Given the description of an element on the screen output the (x, y) to click on. 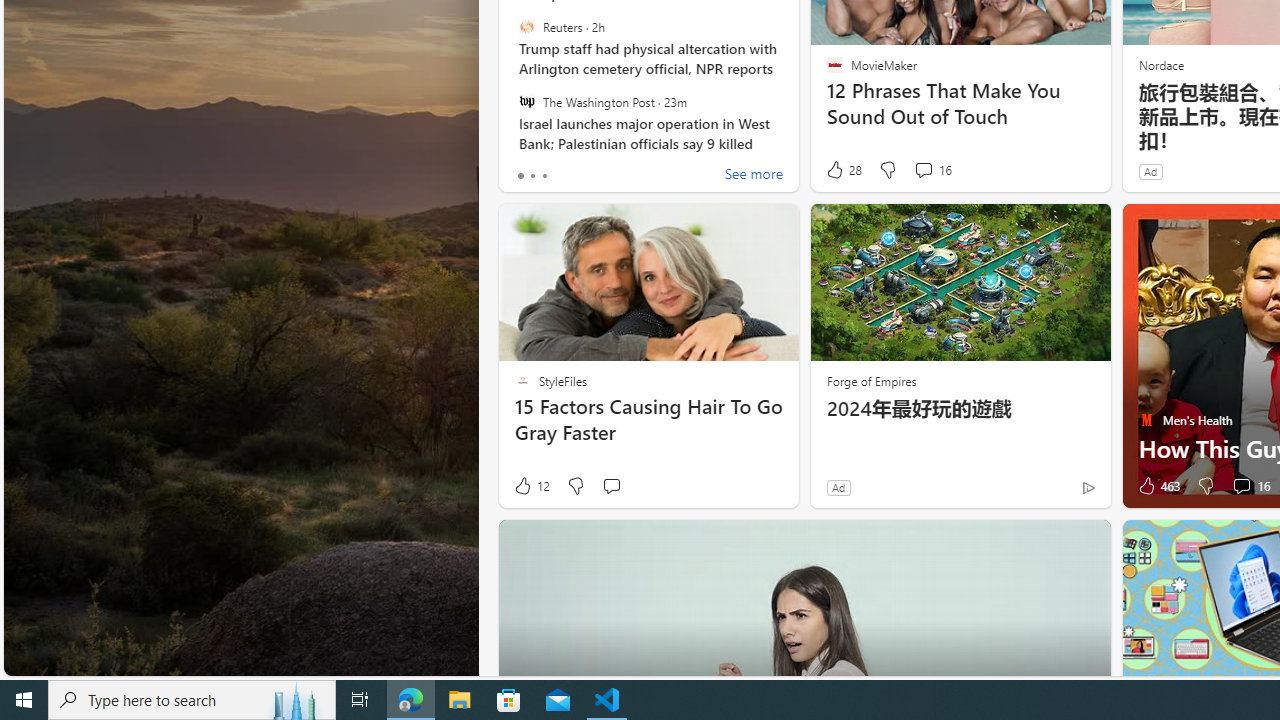
The Washington Post (526, 101)
